Given the description of an element on the screen output the (x, y) to click on. 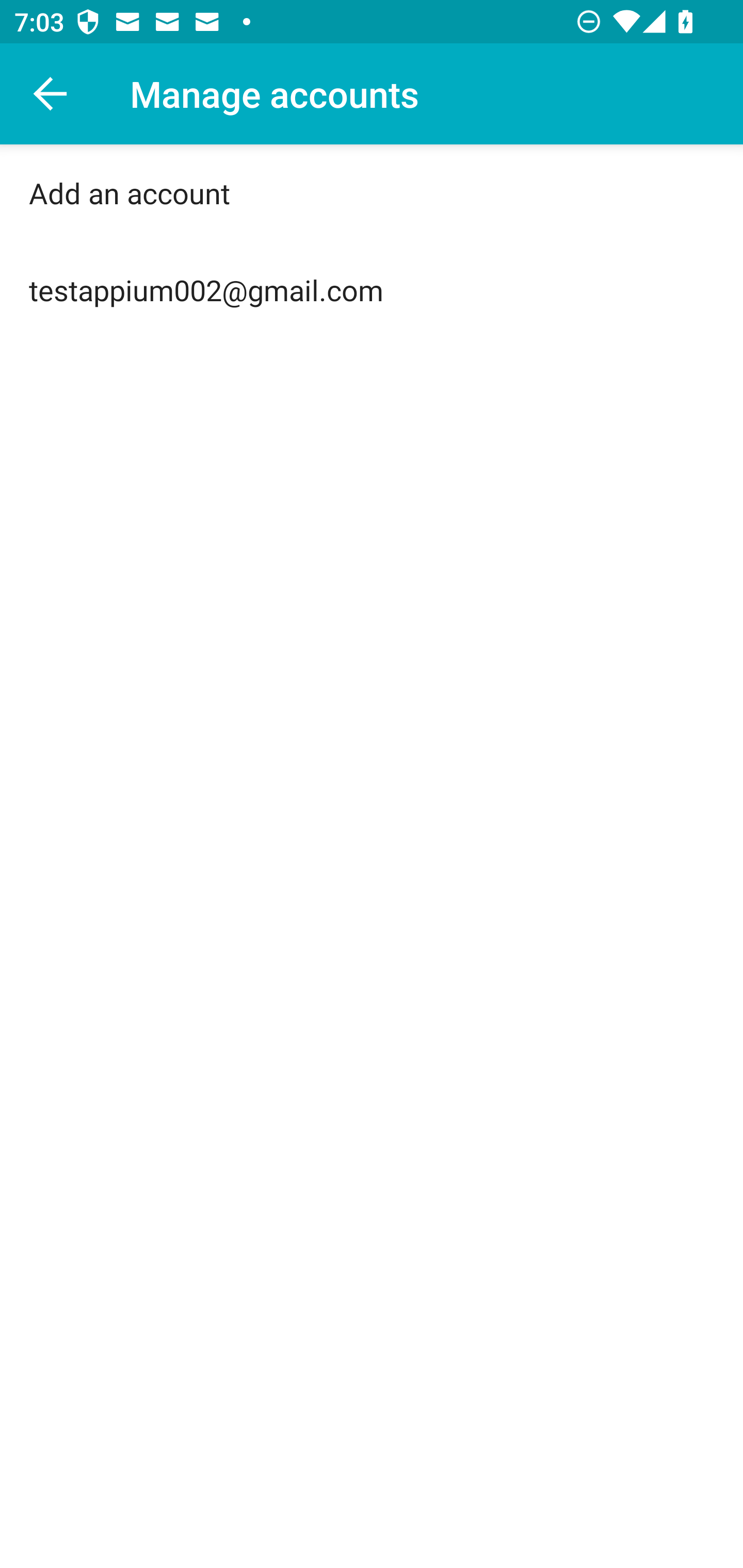
Navigate up (50, 93)
Add an account (371, 192)
testappium002@gmail.com (371, 289)
